Given the description of an element on the screen output the (x, y) to click on. 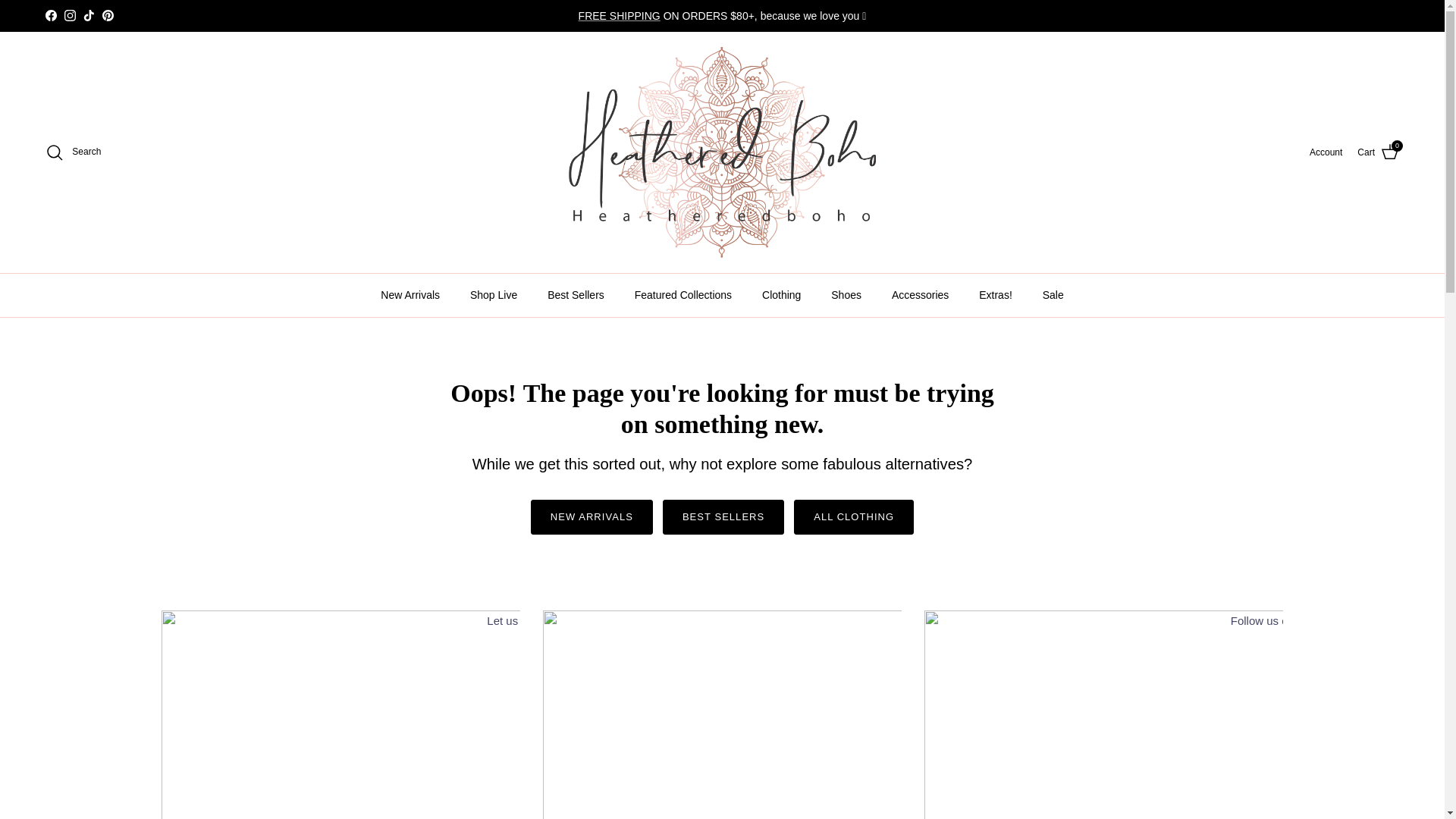
TikTok (88, 15)
Heathered Boho on Pinterest (107, 15)
Shop Live (494, 294)
Best Sellers (575, 294)
Instagram (69, 15)
Shipping Policy (619, 15)
Heathered Boho on TikTok (88, 15)
Facebook (50, 15)
Pinterest (107, 15)
Heathered Boho on Instagram (69, 15)
Search (72, 152)
Account (1377, 152)
Heathered Boho (1325, 152)
New Arrivals (722, 151)
